Given the description of an element on the screen output the (x, y) to click on. 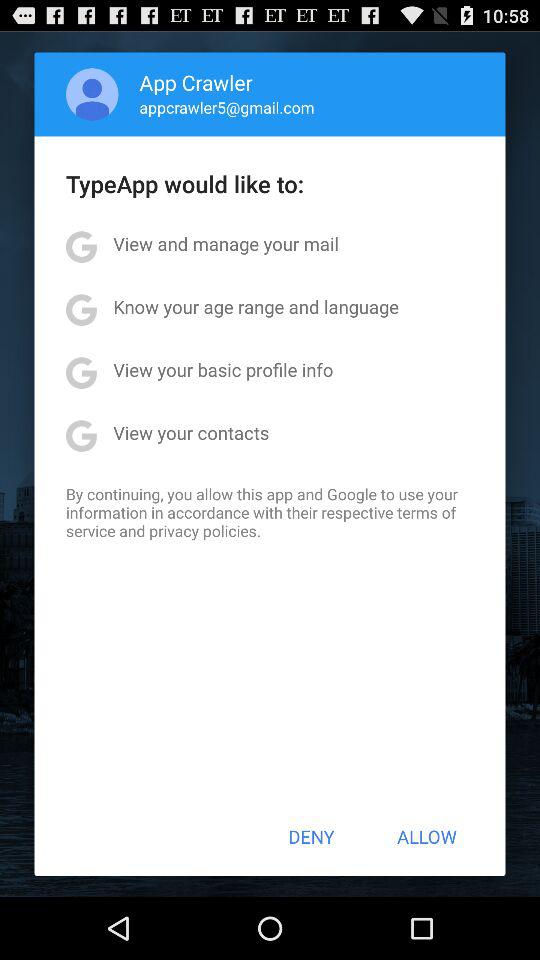
swipe until the deny icon (311, 836)
